Given the description of an element on the screen output the (x, y) to click on. 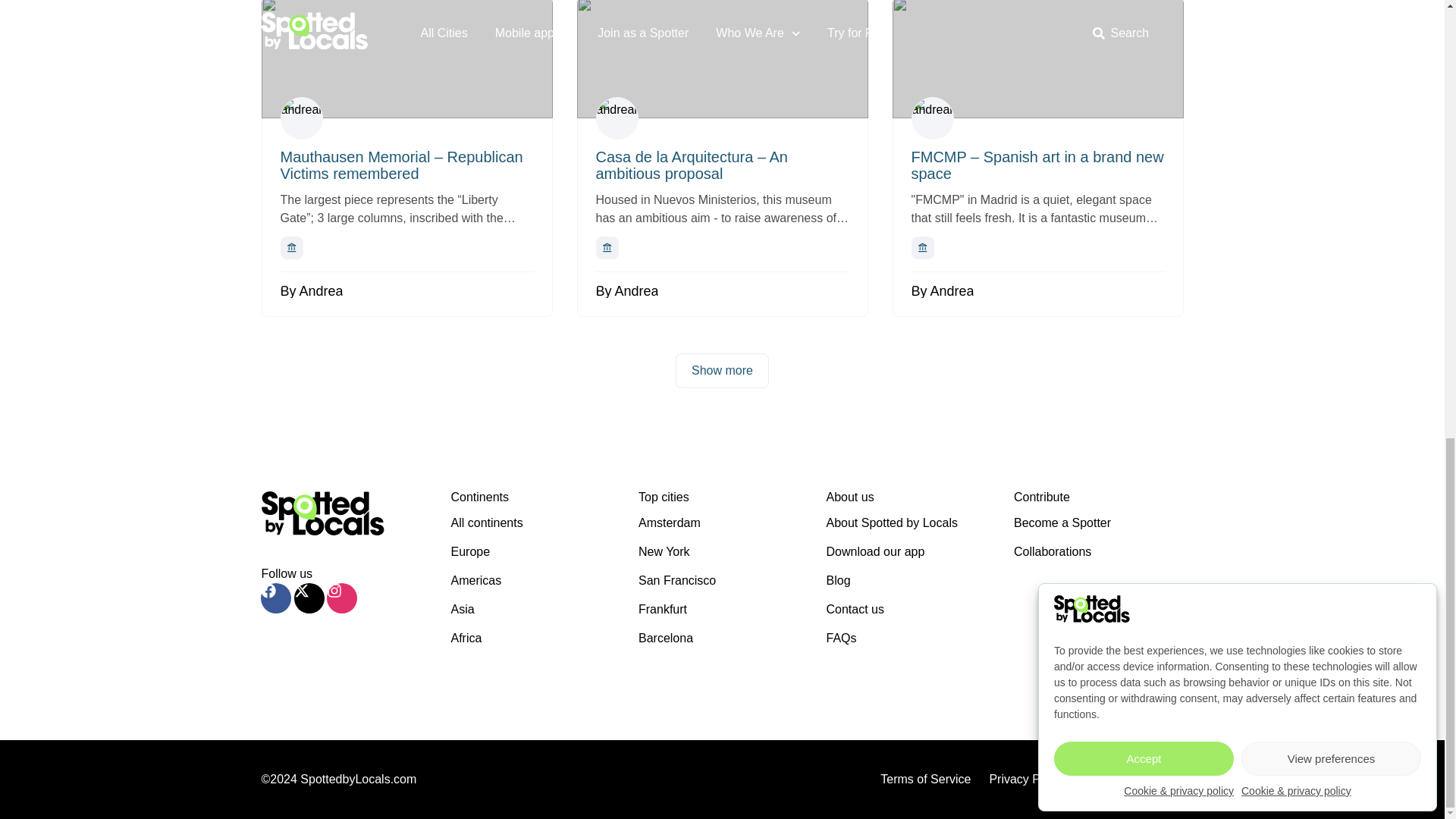
andrearoberts (617, 118)
andrearoberts (302, 118)
andrearoberts (932, 118)
